Given the description of an element on the screen output the (x, y) to click on. 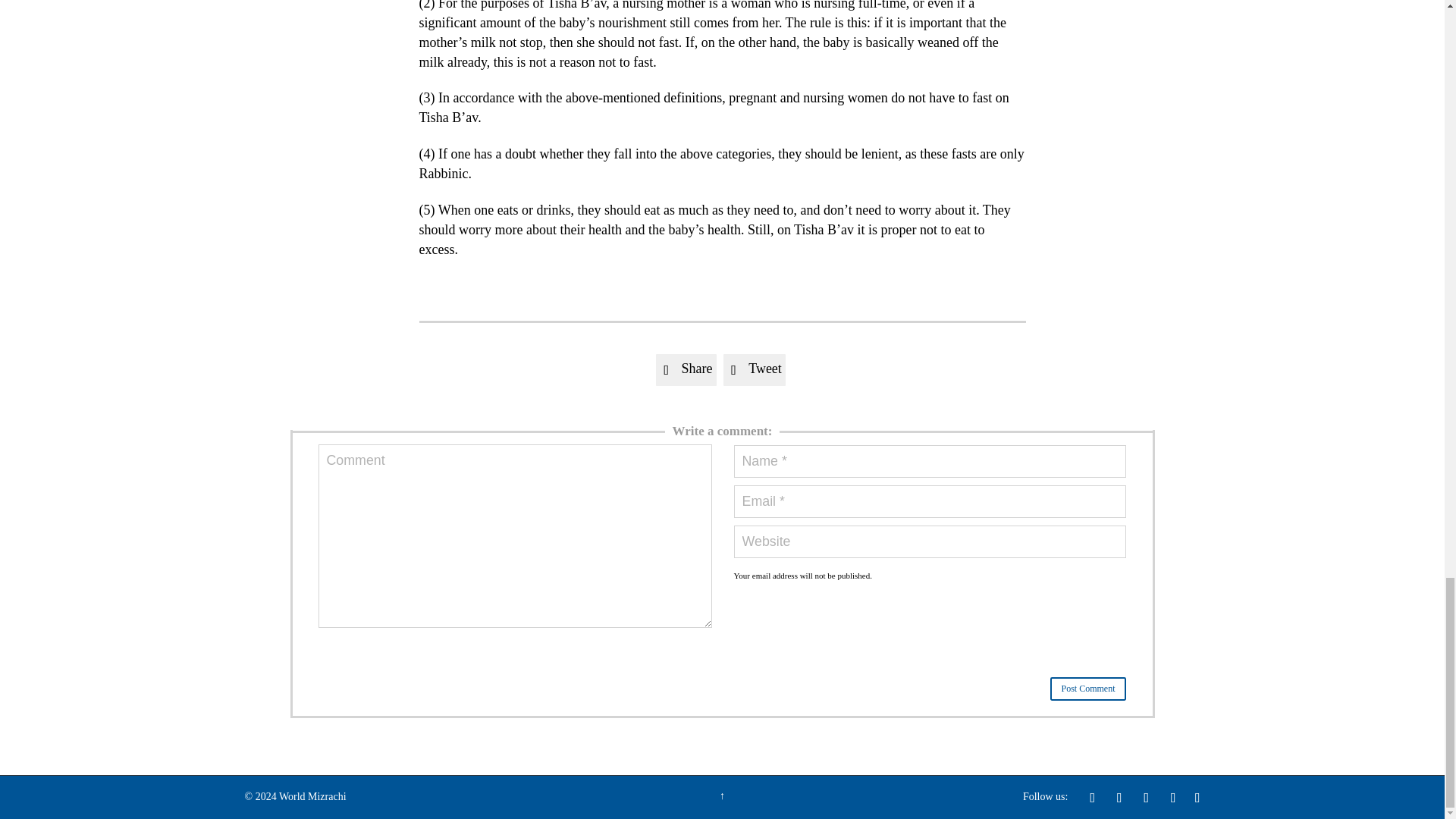
Share on Twitter (754, 368)
Post Comment (1087, 689)
Share on Facebook (686, 368)
